Given the description of an element on the screen output the (x, y) to click on. 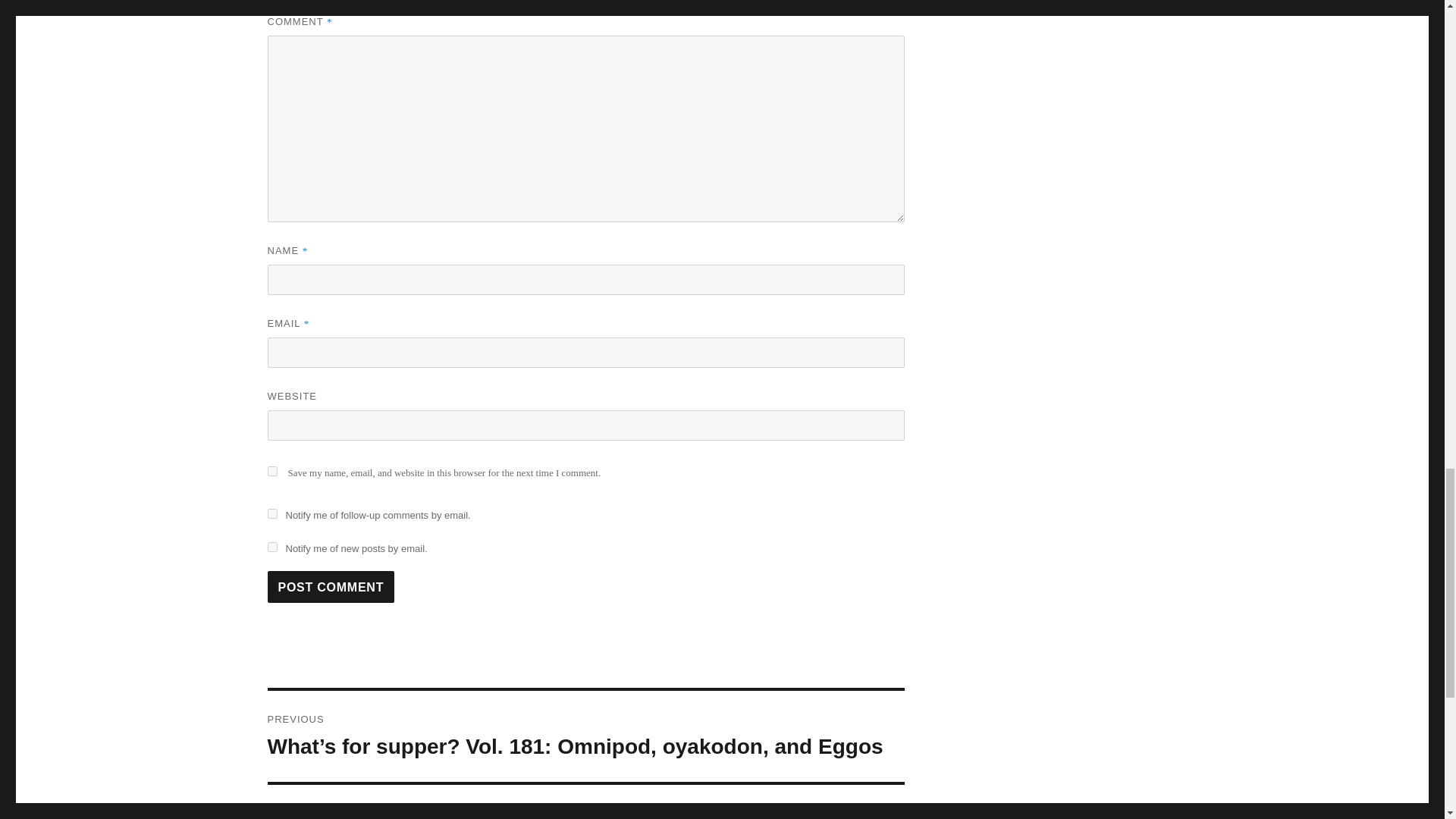
subscribe (585, 801)
subscribe (271, 513)
The table where you sit (271, 547)
10 ridiculous family games that need no equipment (1120, 99)
Post Comment (1005, 99)
yes (330, 586)
